Given the description of an element on the screen output the (x, y) to click on. 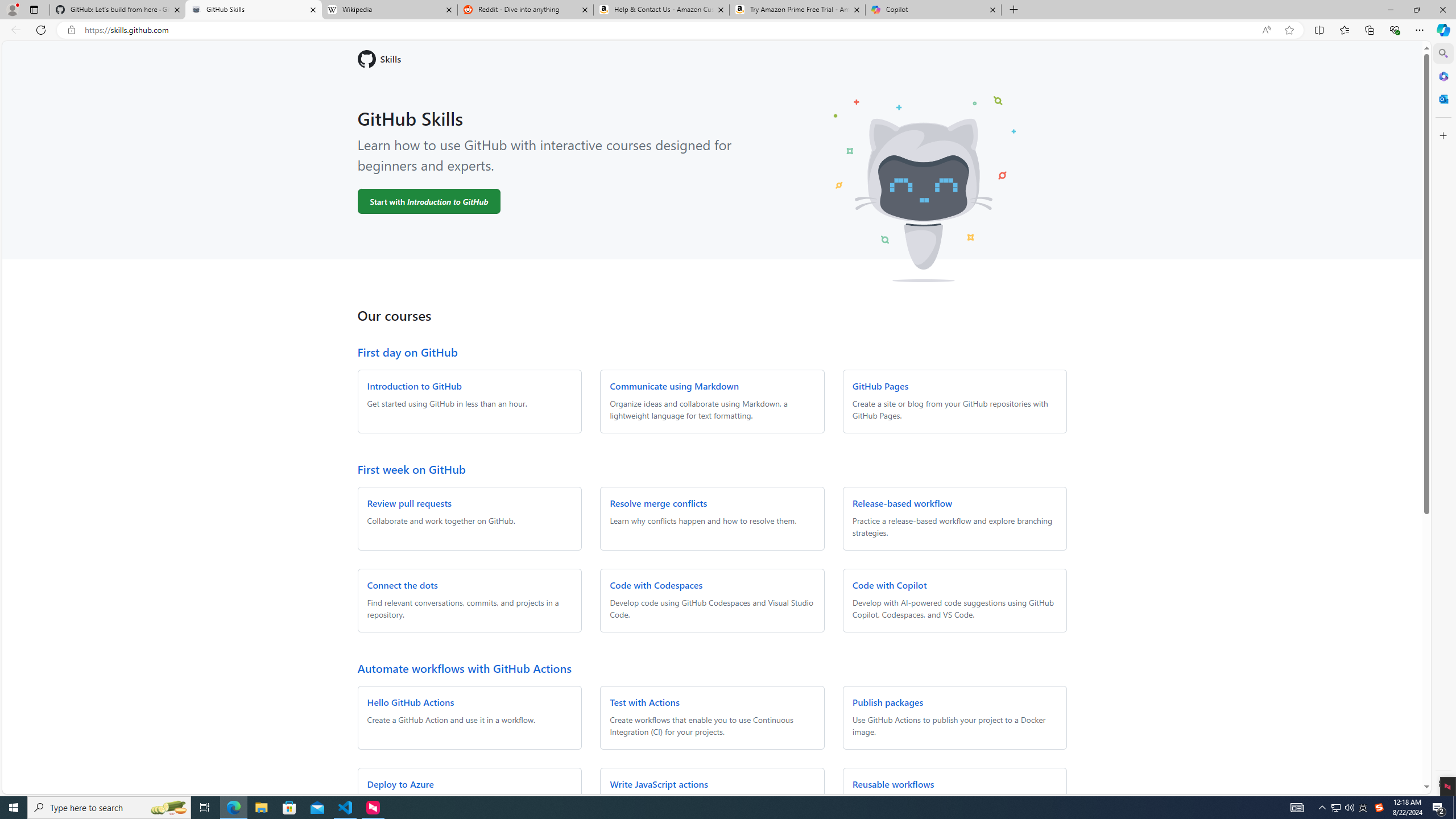
Test with Actions (644, 702)
App bar (728, 29)
Help & Contact Us - Amazon Customer Service (660, 9)
Review pull requests (408, 503)
Side bar (1443, 418)
Wikipedia (390, 9)
Code with Codespaces (656, 585)
Resolve merge conflicts (658, 503)
Publish packages (887, 702)
